Given the description of an element on the screen output the (x, y) to click on. 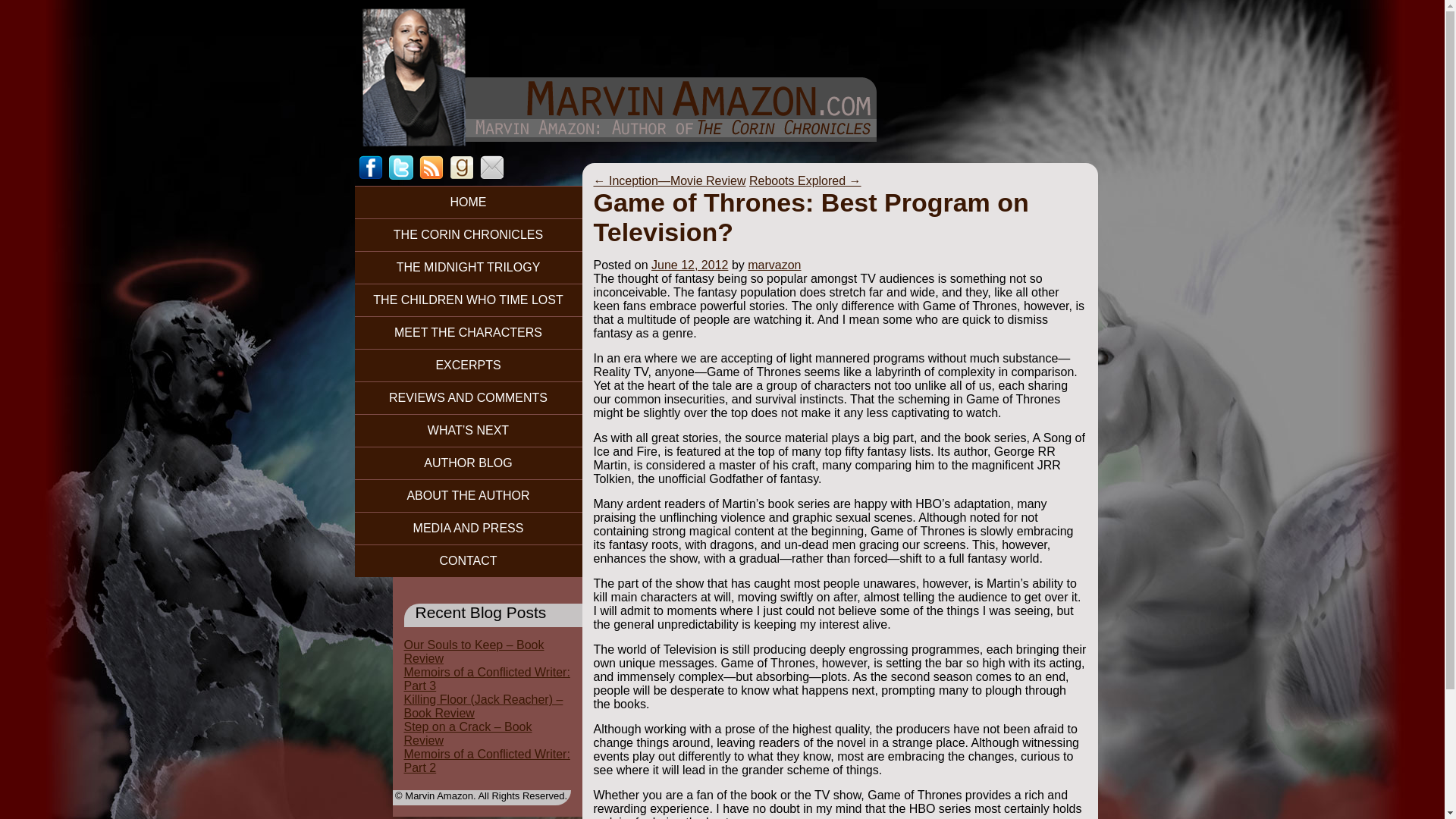
THE CORIN CHRONICLES (468, 234)
THE CHILDREN WHO TIME LOST (468, 299)
CONTACT (468, 560)
MEDIA AND PRESS (468, 527)
HOME (468, 201)
REVIEWS AND COMMENTS (468, 397)
5:30 pm (689, 264)
June 12, 2012 (689, 264)
THE MIDNIGHT TRILOGY (468, 266)
marvazon (774, 264)
